Given the description of an element on the screen output the (x, y) to click on. 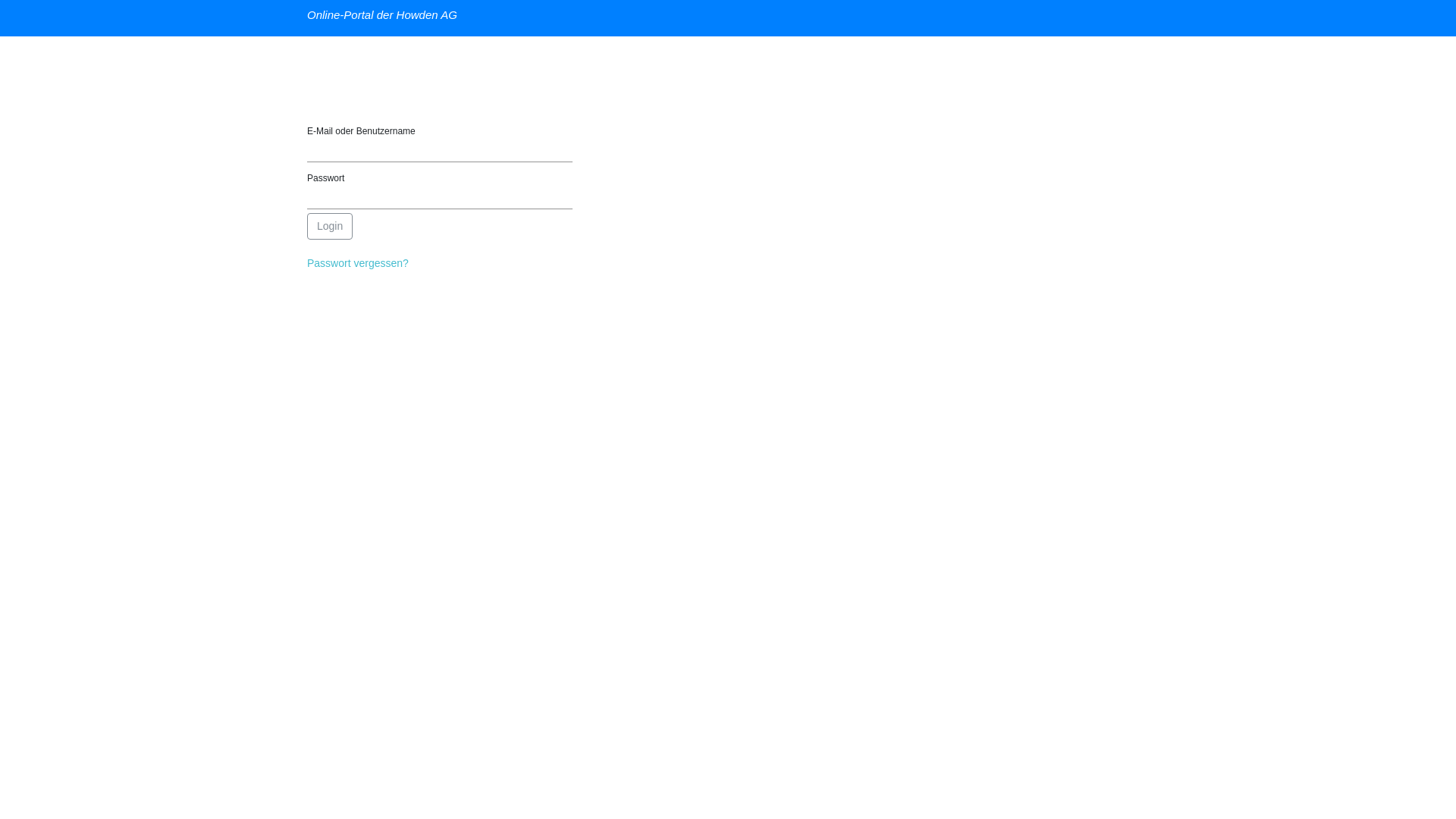
Login Element type: text (329, 226)
Passwort vergessen? Element type: text (357, 263)
